Given the description of an element on the screen output the (x, y) to click on. 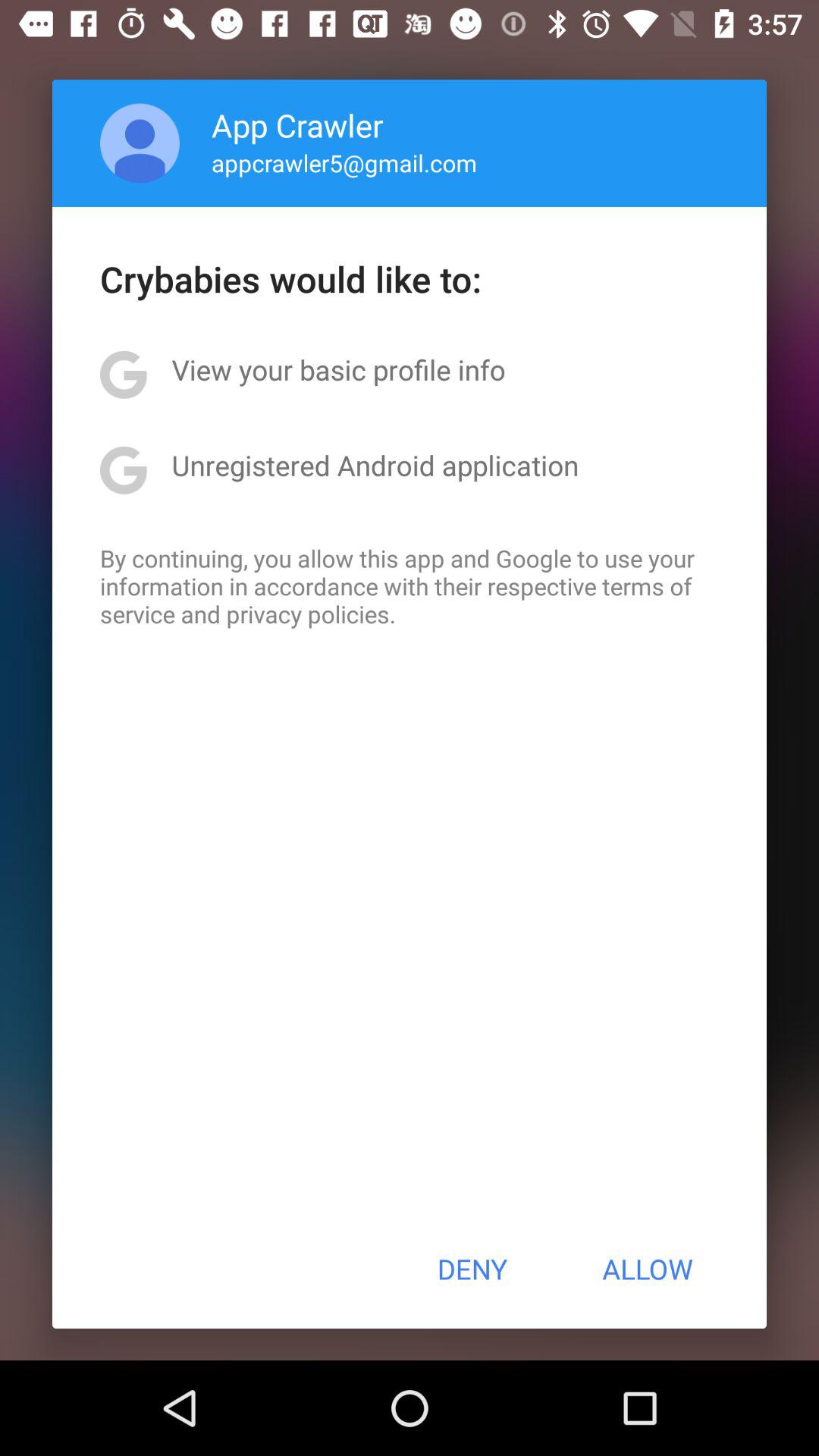
select app above appcrawler5@gmail.com (297, 124)
